Given the description of an element on the screen output the (x, y) to click on. 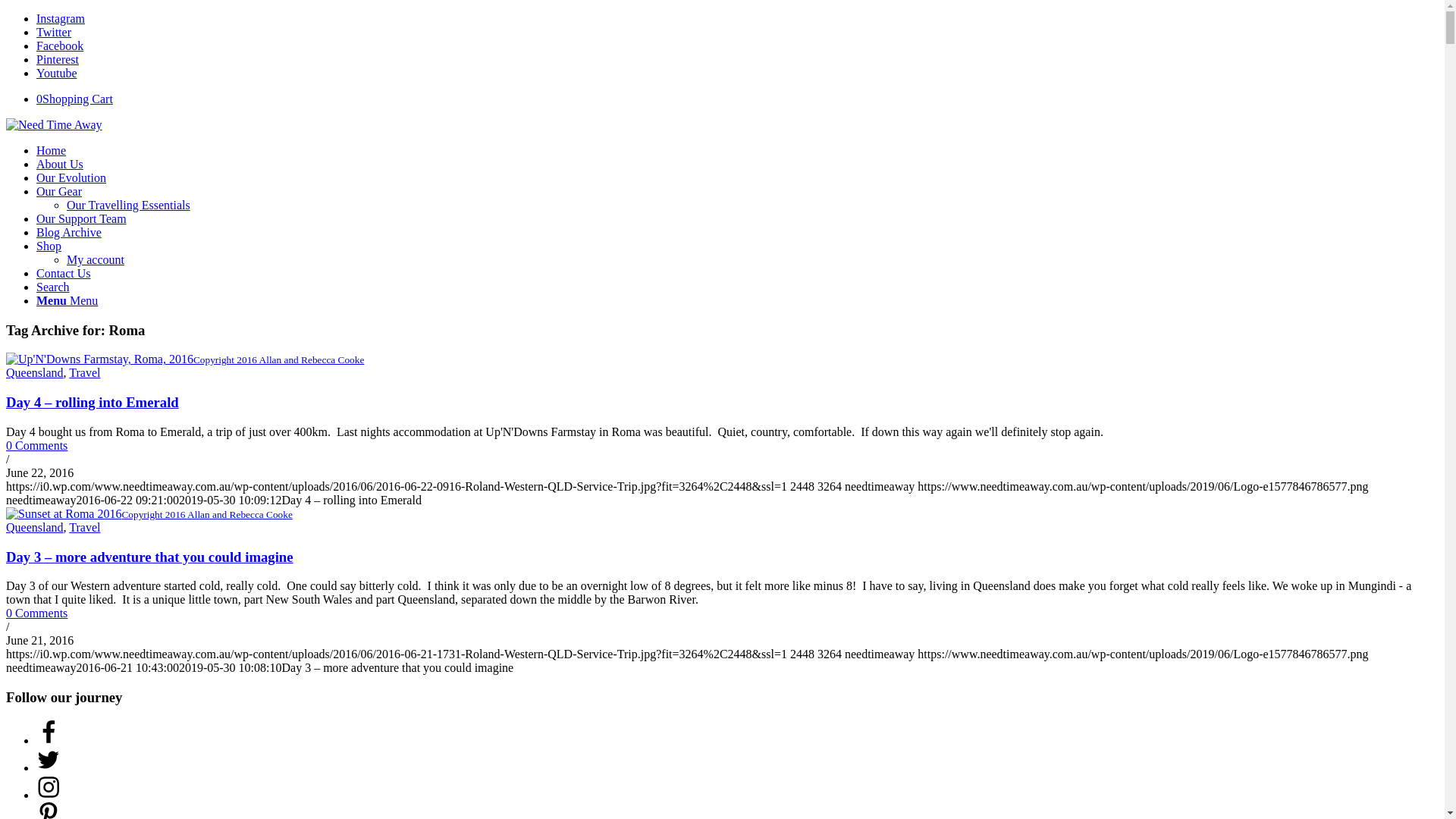
Our Support Team Element type: text (81, 218)
Blog Archive Element type: text (68, 231)
Contact Us Element type: text (63, 272)
Follow on Facebook Element type: hover (48, 740)
Travel Element type: text (84, 526)
Shop Element type: text (48, 245)
Copyright 2016 Allan and Rebecca Cooke Element type: text (185, 358)
About Us Element type: text (59, 163)
My account Element type: text (95, 259)
0 Comments Element type: text (36, 445)
Follow on Instagram Element type: hover (48, 794)
Menu Menu Element type: text (66, 300)
Twitter Element type: text (53, 31)
Our Evolution Element type: text (71, 177)
Travel Element type: text (84, 372)
Home Element type: text (50, 150)
0 Comments Element type: text (36, 612)
Our Gear Element type: text (58, 191)
Instagram Element type: text (60, 18)
Search Element type: text (52, 286)
0Shopping Cart Element type: text (74, 98)
Youtube Element type: text (56, 72)
Queensland Element type: text (34, 372)
Our Travelling Essentials Element type: text (128, 204)
Queensland Element type: text (34, 526)
Pinterest Element type: text (57, 59)
Facebook Element type: text (59, 45)
Follow on Twitter Element type: hover (48, 767)
Copyright 2016 Allan and Rebecca Cooke Element type: text (149, 513)
Need Time Away Logo Element type: hover (54, 124)
